Given the description of an element on the screen output the (x, y) to click on. 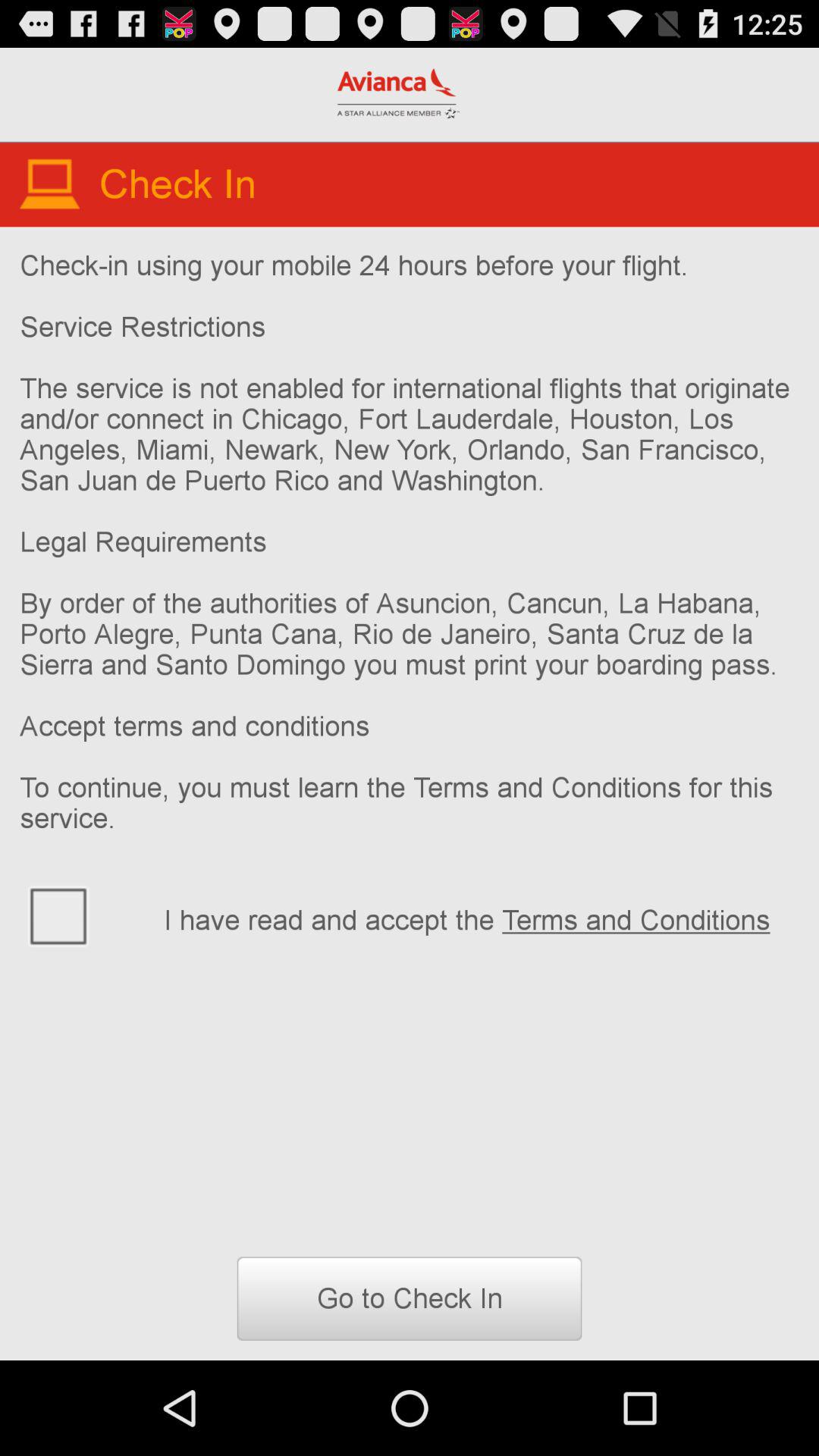
turn on the item at the bottom (409, 1298)
